Given the description of an element on the screen output the (x, y) to click on. 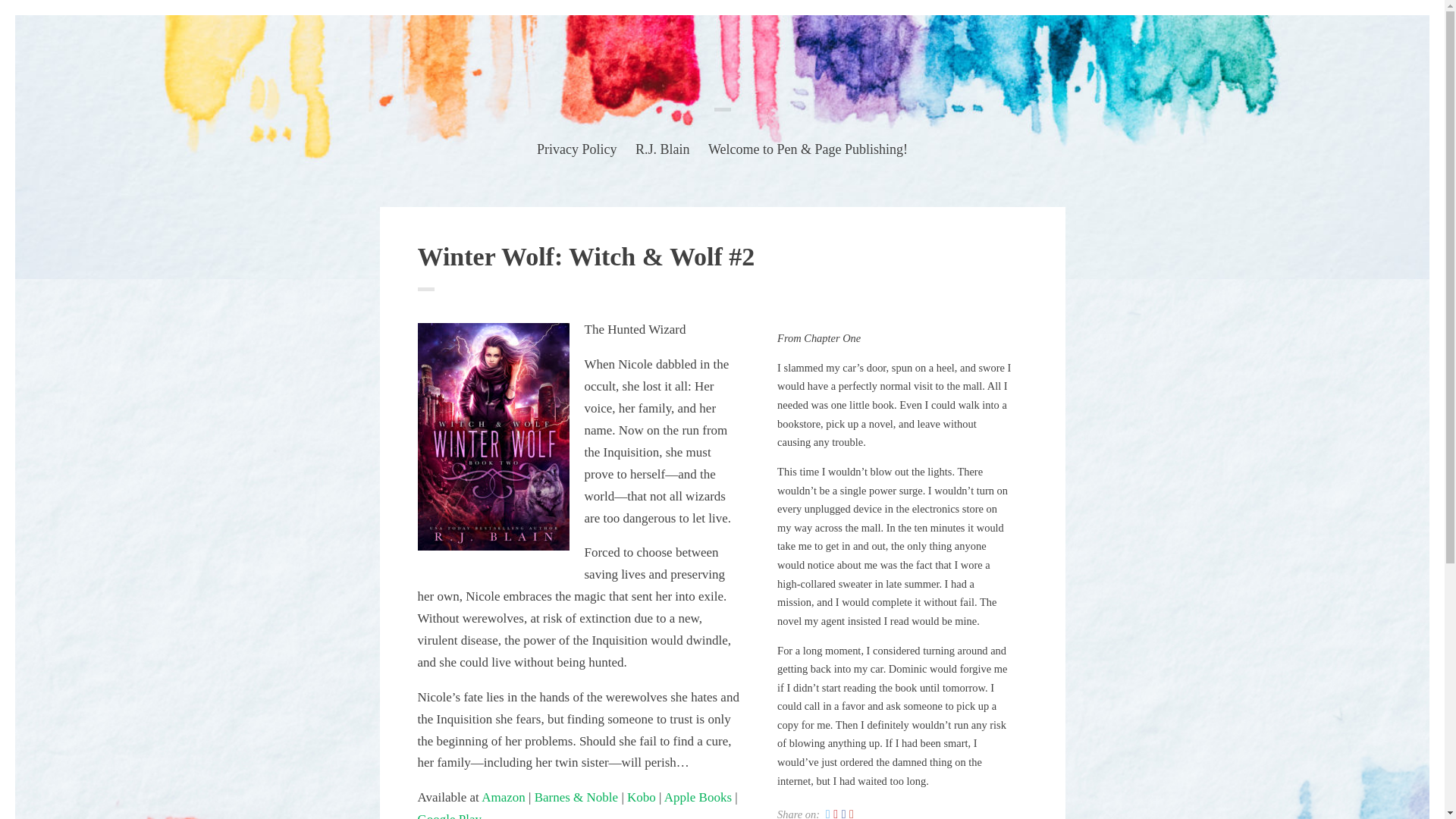
Privacy Policy (577, 151)
Google Play (448, 815)
R.J. Blain (662, 151)
Kobo (641, 797)
Amazon (503, 797)
Apple Books (697, 797)
